Given the description of an element on the screen output the (x, y) to click on. 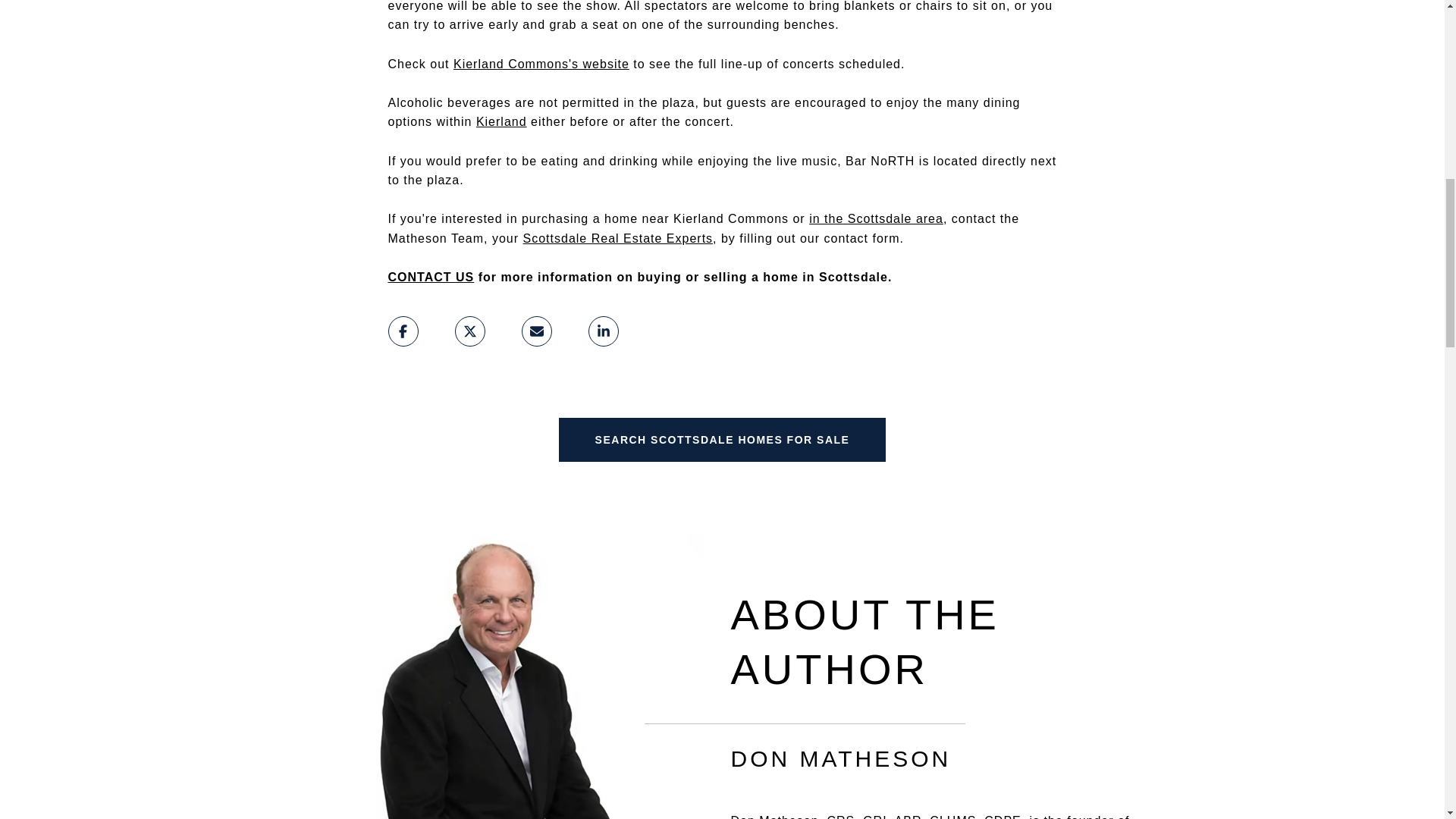
SEARCH SCOTTSDALE HOMES FOR SALE (722, 439)
Kierland Commons's website (540, 63)
Scottsdale Real Estate Experts (617, 237)
Kierland (501, 121)
CONTACT US (431, 277)
in the Scottsdale area (876, 218)
